Given the description of an element on the screen output the (x, y) to click on. 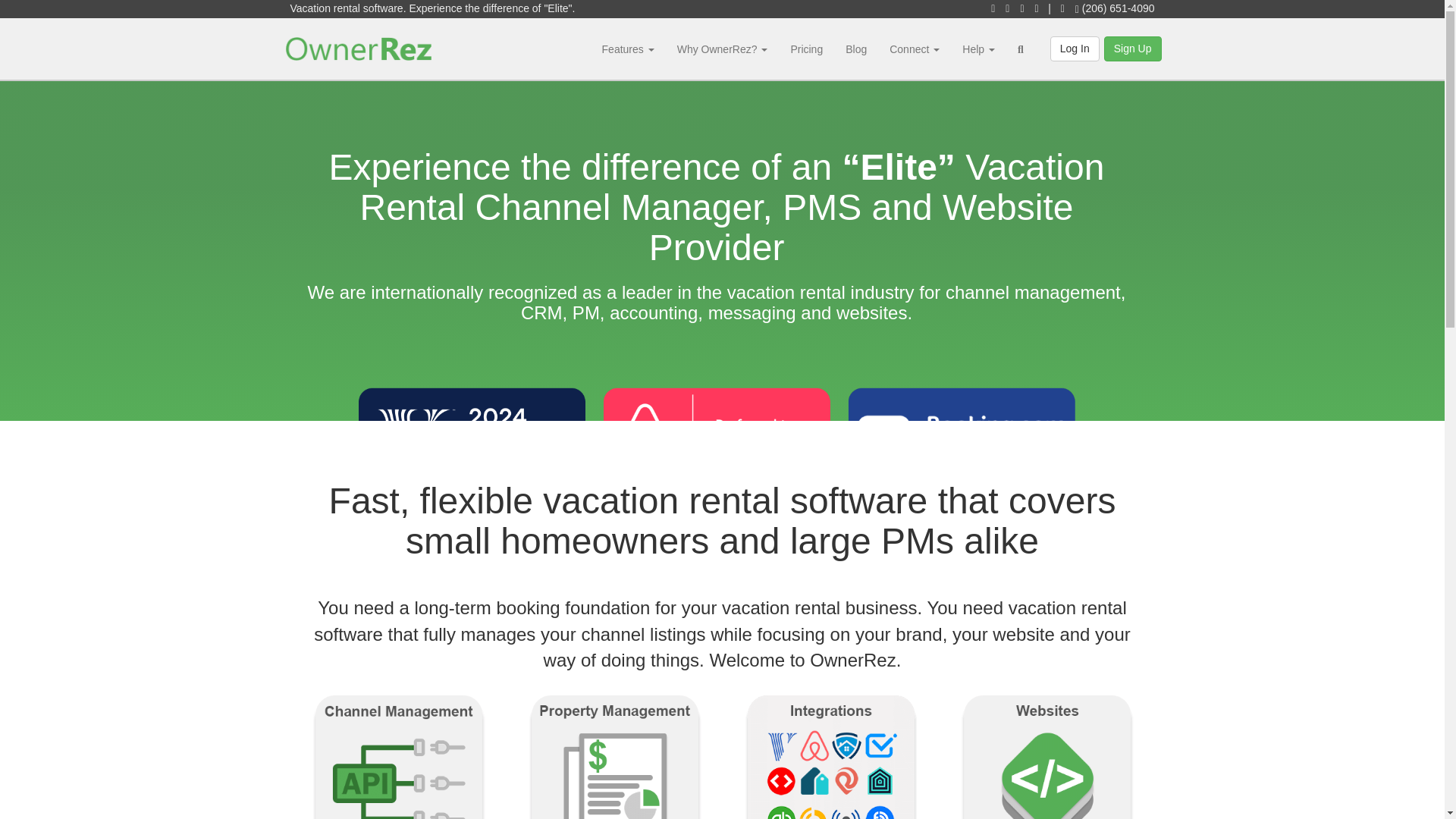
Why OwnerRez? (721, 48)
Log In (1074, 49)
Features (628, 48)
Connect (913, 48)
Blog (855, 48)
Pricing (806, 48)
Sign Up (1132, 49)
